Given the description of an element on the screen output the (x, y) to click on. 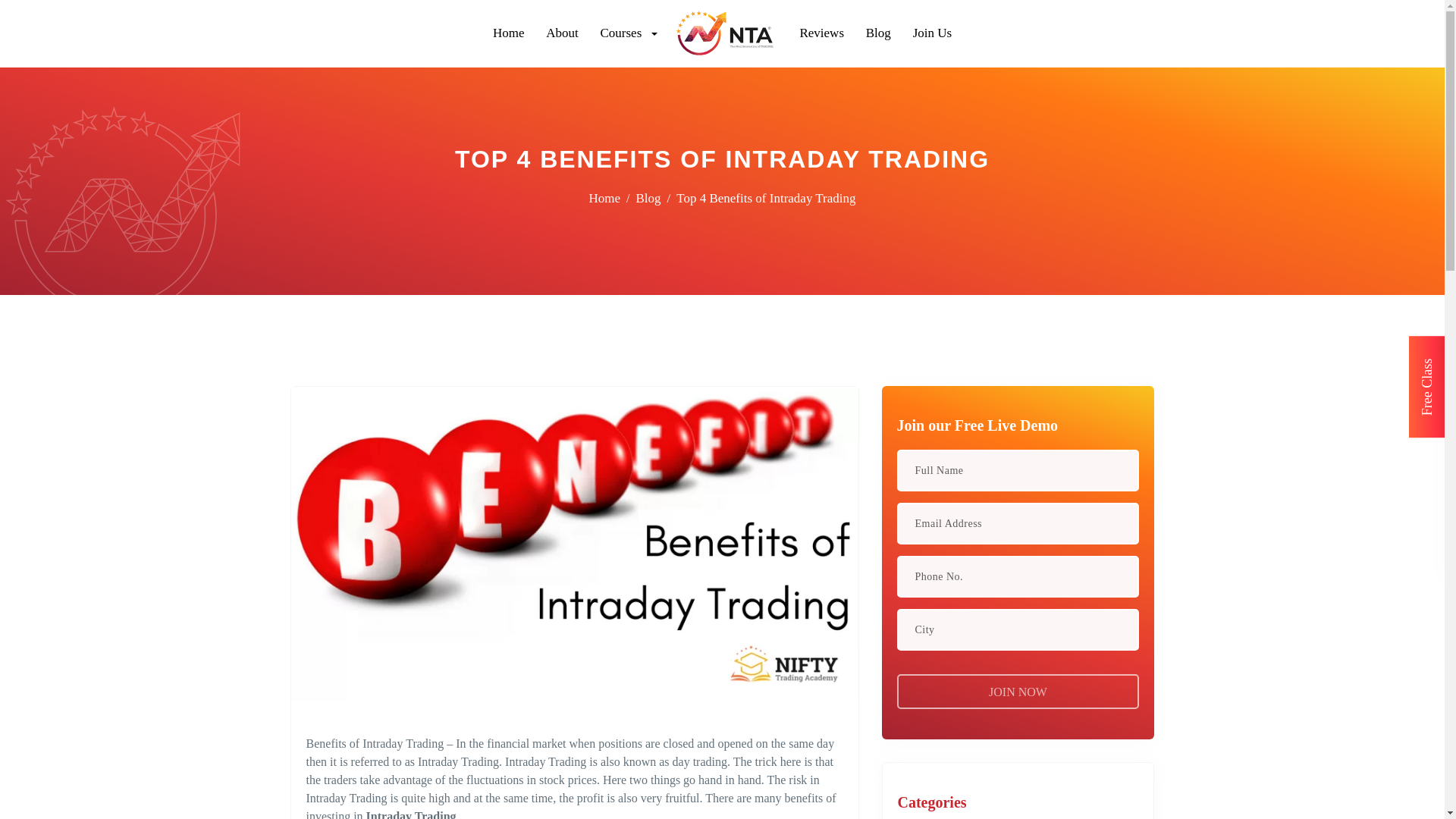
Blog (647, 197)
Reviews (877, 33)
Home (604, 197)
Reviews (821, 33)
Blog (877, 33)
About (562, 33)
Courses (618, 33)
Join Us (931, 33)
About (508, 33)
Join Us (931, 33)
JOIN NOW (1017, 690)
Home (508, 33)
About (562, 33)
Reviews (821, 33)
